Given the description of an element on the screen output the (x, y) to click on. 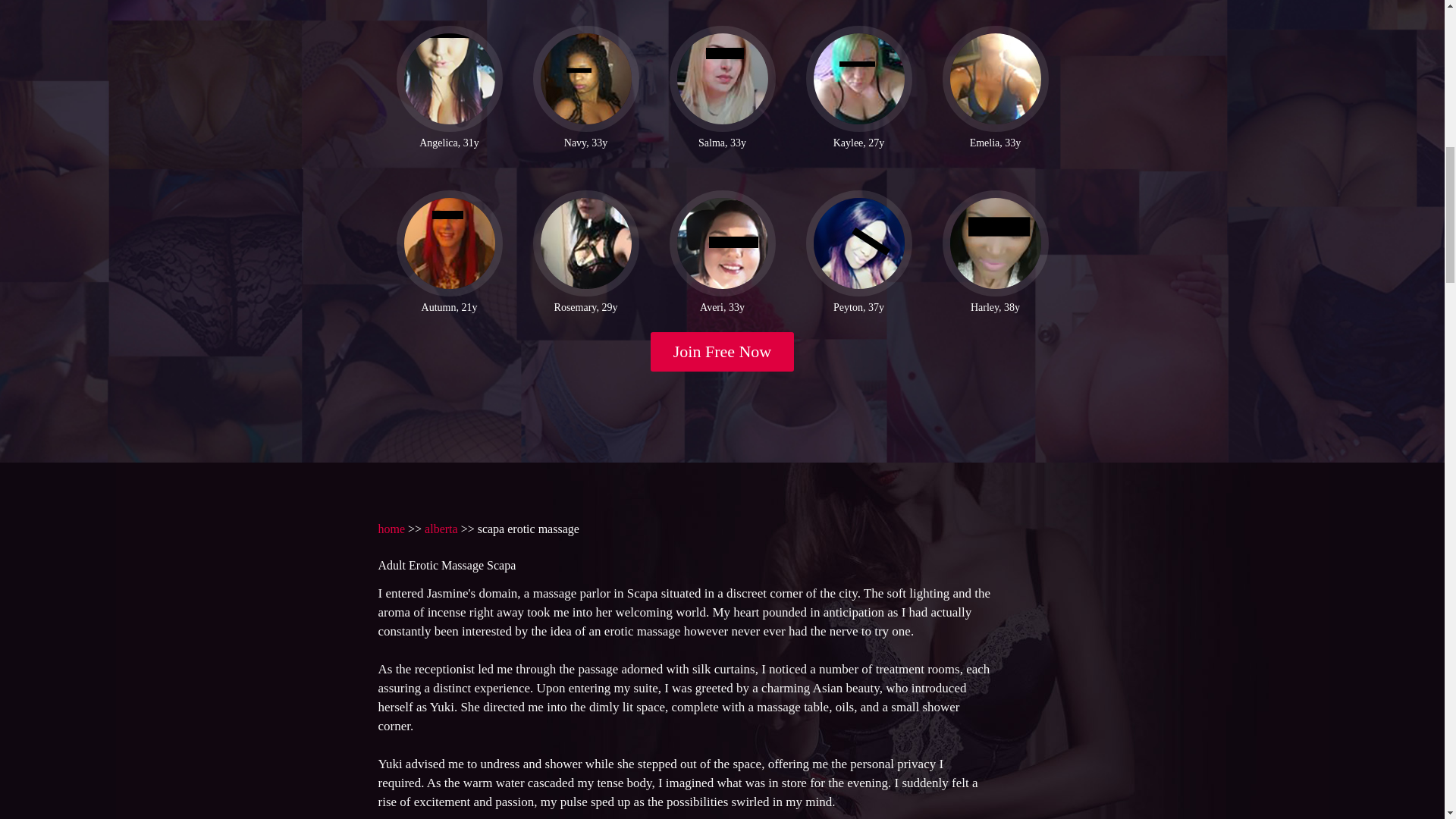
alberta (441, 528)
Join (722, 351)
home (390, 528)
Join Free Now (722, 351)
